Given the description of an element on the screen output the (x, y) to click on. 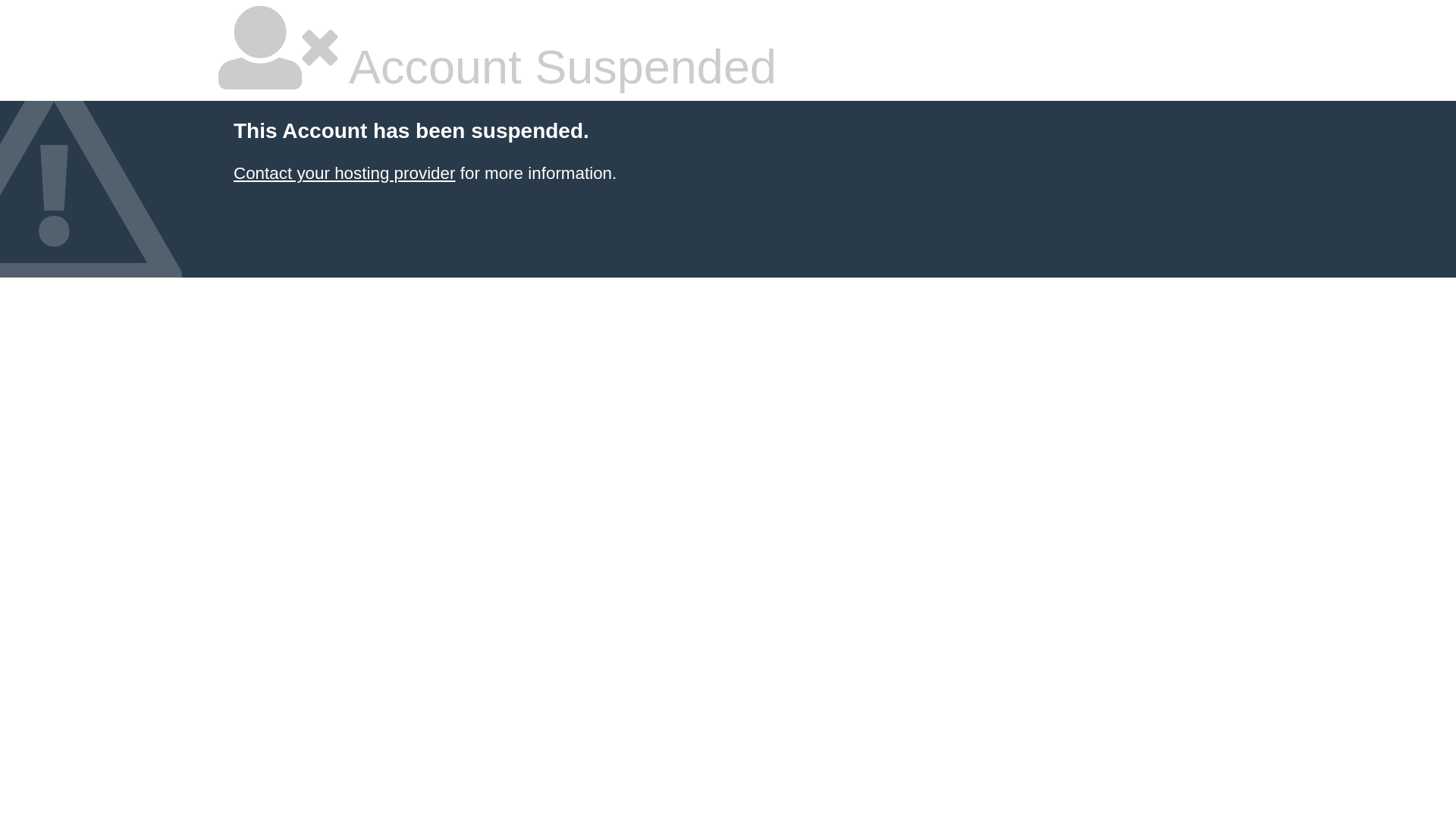
Contact your hosting provider Element type: text (344, 172)
